Given the description of an element on the screen output the (x, y) to click on. 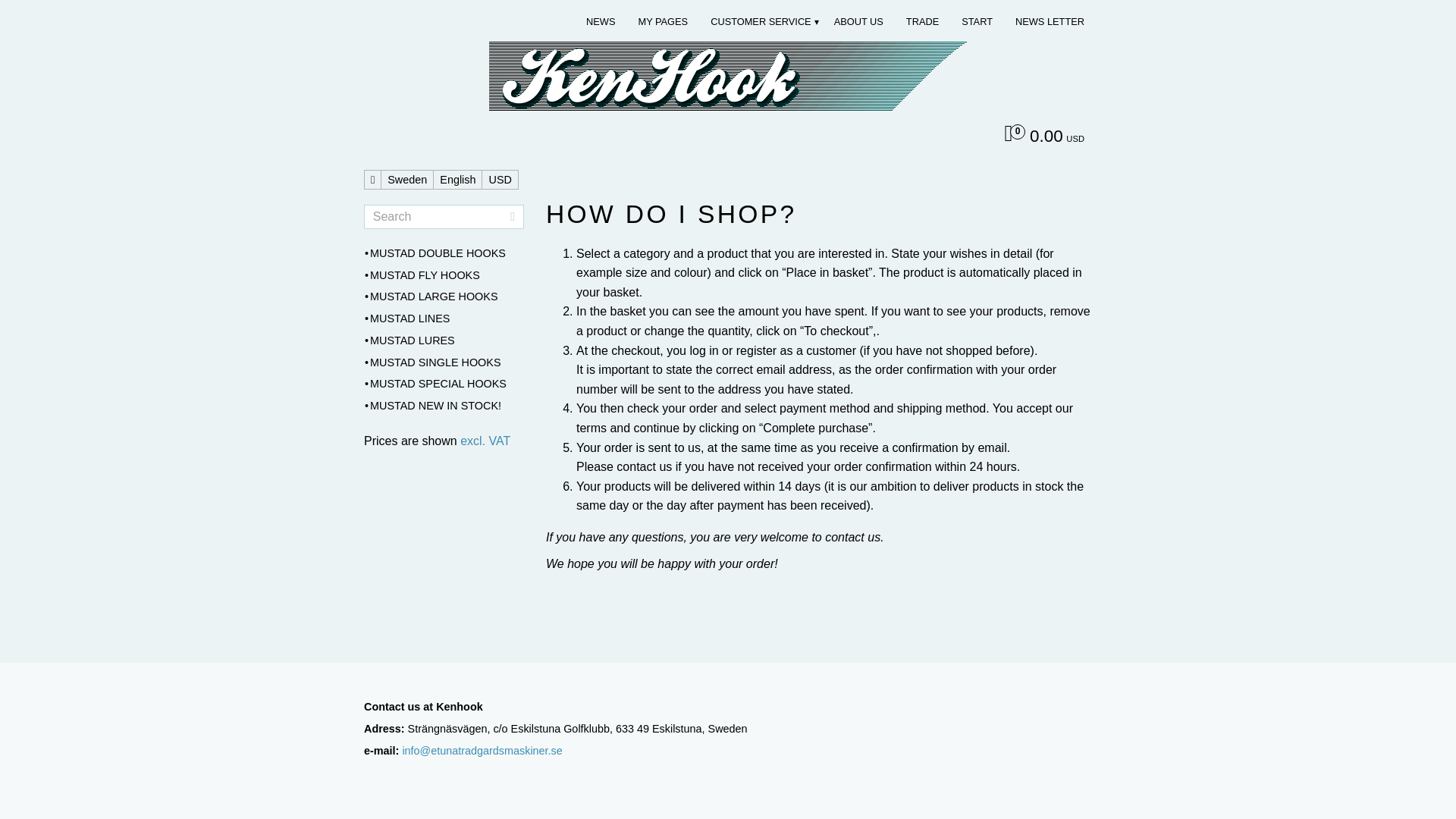
MUSTAD SINGLE HOOKS (444, 362)
Mustad Large Hooks (444, 297)
START (980, 20)
MUSTAD SPECIAL HOOKS (444, 383)
0.00 USD (1036, 137)
My pages (666, 20)
Mustad NEW IN STOCK! (444, 406)
About us (862, 20)
Mustad Lines (444, 319)
Mustad Single Hooks (444, 362)
Mustad Lures (444, 341)
CUSTOMER SERVICE (764, 20)
Customer service (764, 20)
MUSTAD NEW IN STOCK! (444, 406)
News Letter (1053, 20)
